Given the description of an element on the screen output the (x, y) to click on. 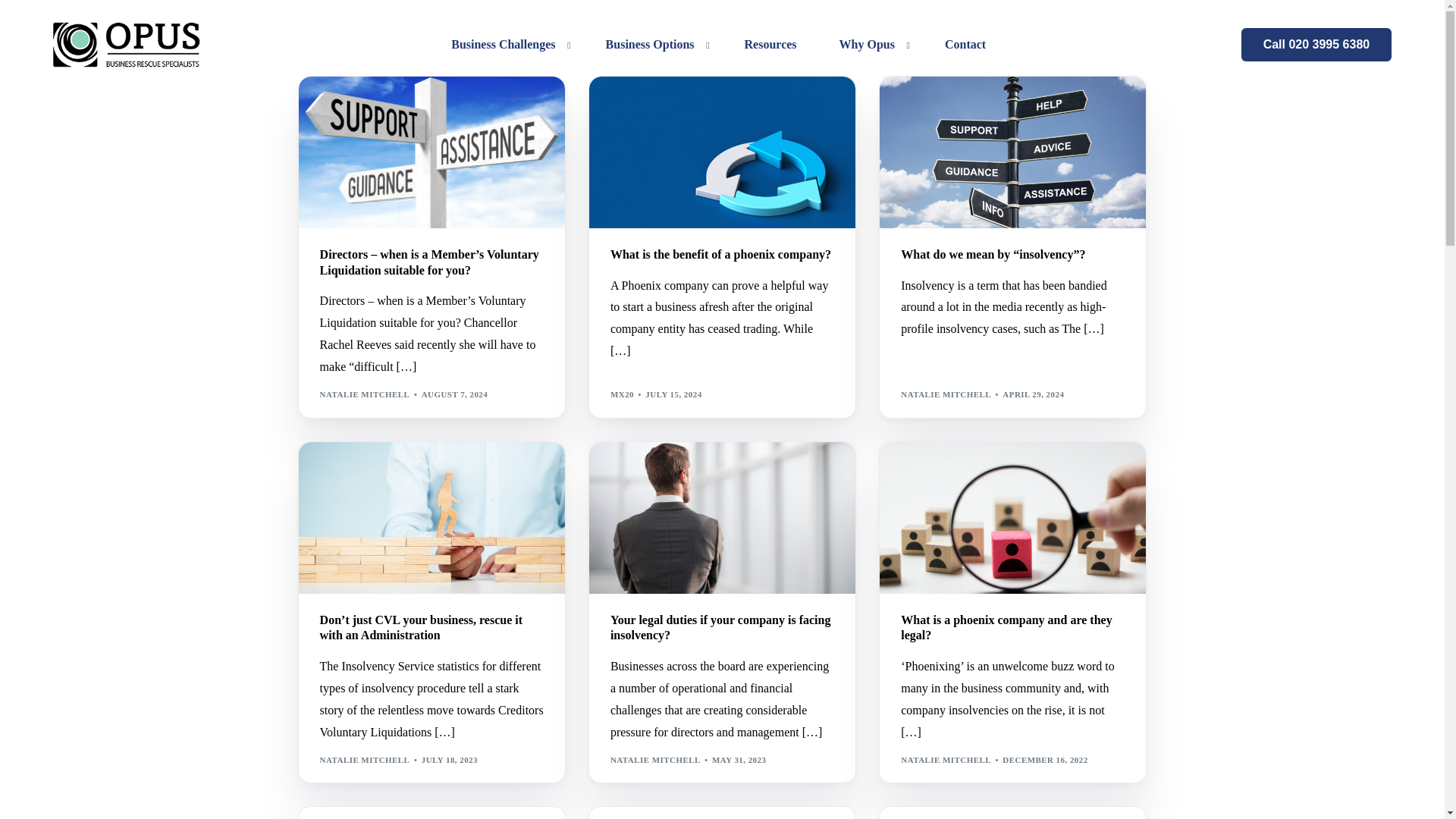
Business Challenges (506, 44)
Contact (965, 44)
Resources (770, 44)
Posts by Mx20 (621, 393)
MX20 (621, 393)
Posts by Natalie Mitchell (365, 393)
 View Post: What is the benefit of a phoenix company? (722, 152)
NATALIE MITCHELL (365, 393)
View Post: What is the benefit of a phoenix company?  (722, 254)
Call 020 3995 6380 (1316, 44)
